Given the description of an element on the screen output the (x, y) to click on. 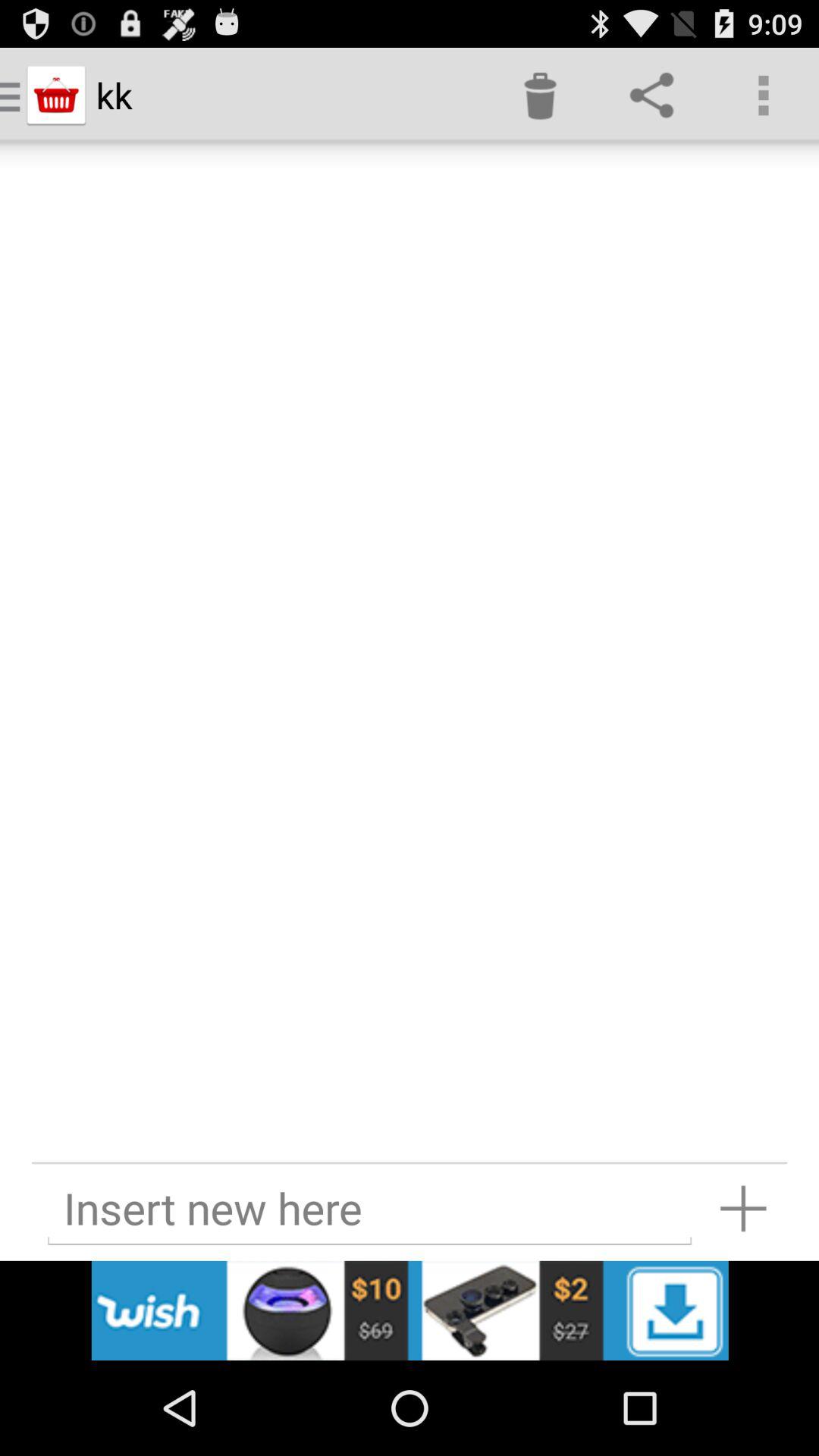
menu buttons (409, 1310)
